Given the description of an element on the screen output the (x, y) to click on. 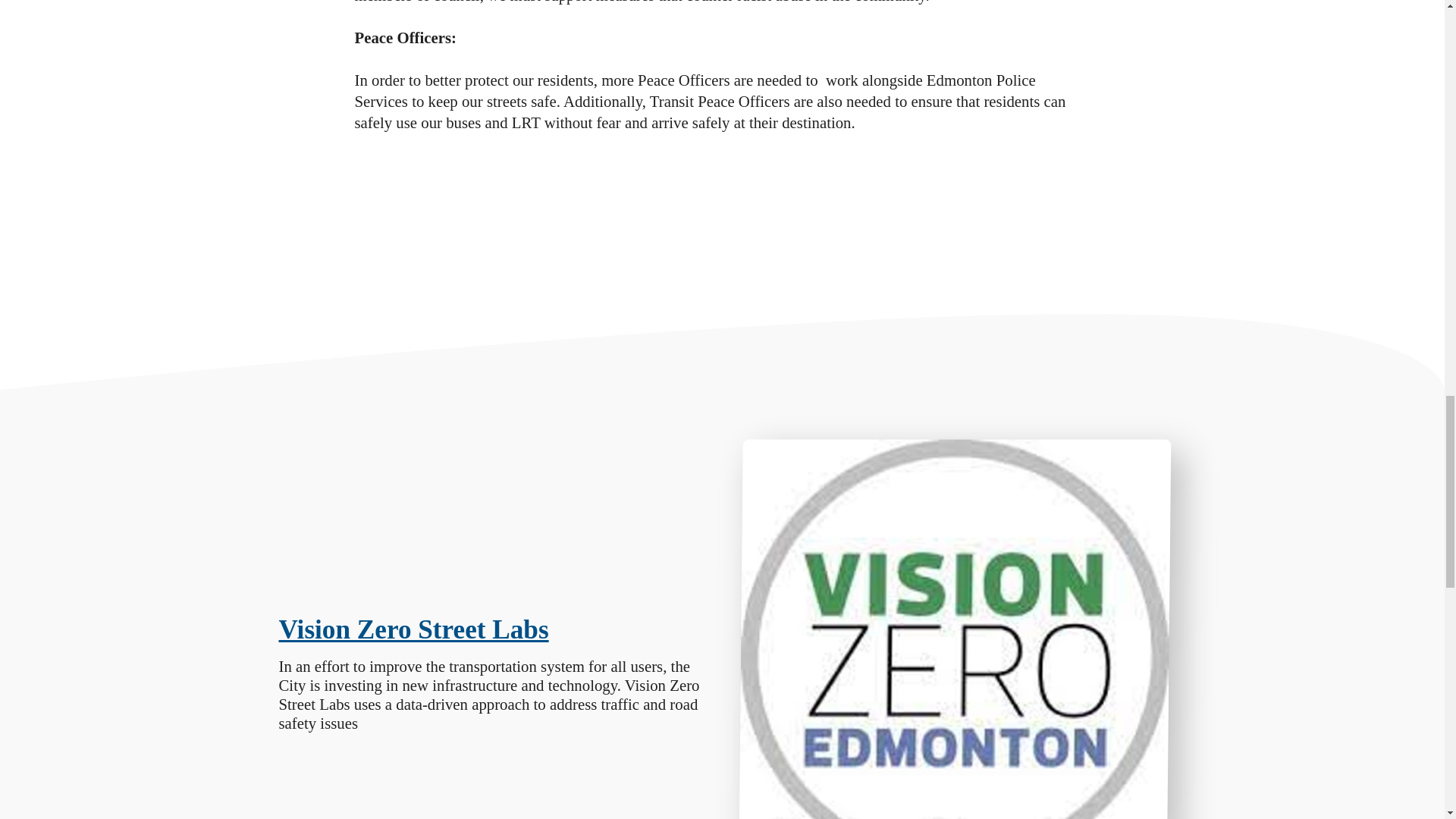
Vision Zero Street Labs (413, 629)
